Given the description of an element on the screen output the (x, y) to click on. 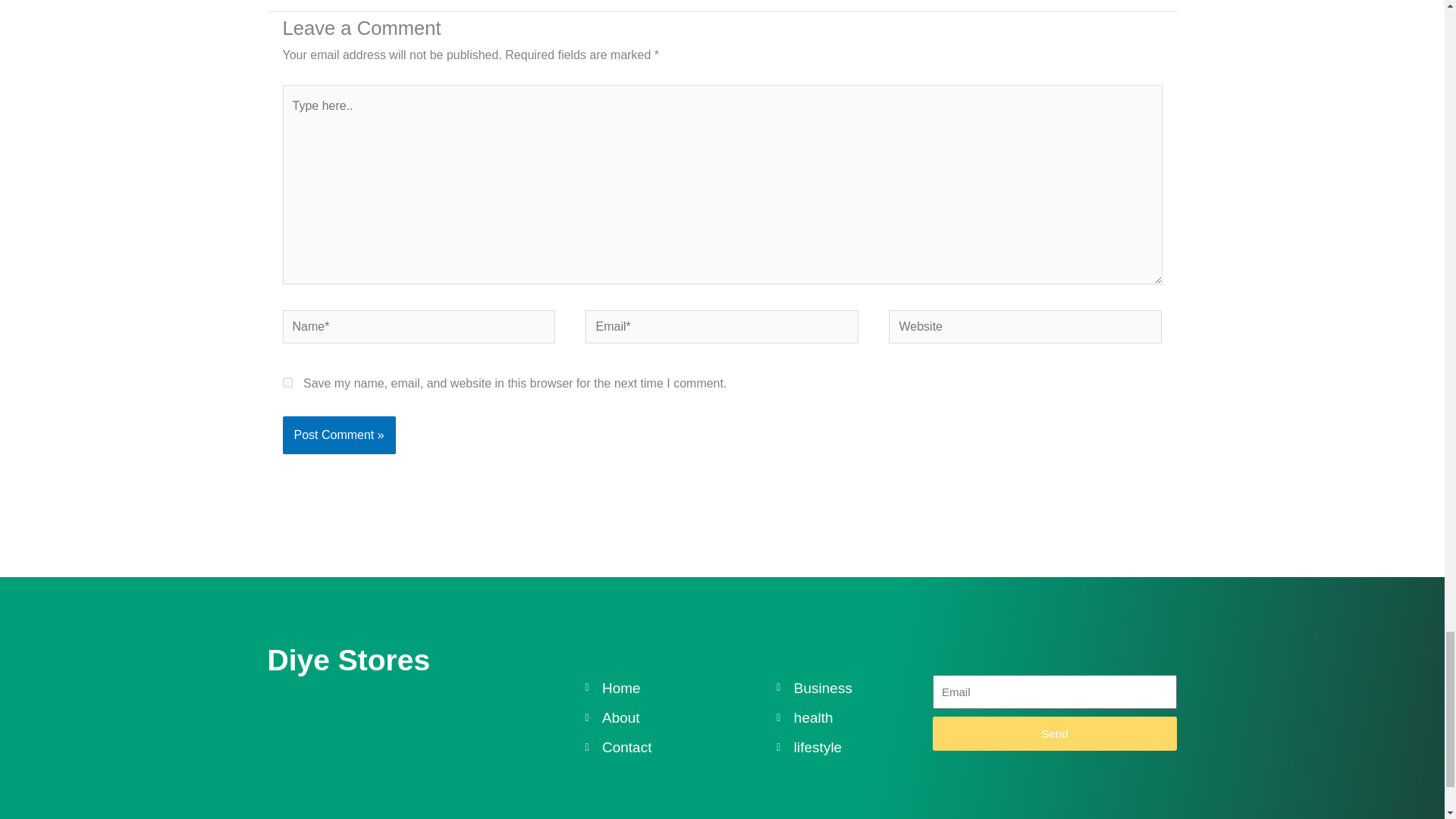
Diye Stores (347, 659)
Send (1054, 733)
Contact (680, 746)
yes (287, 382)
lifestyle (853, 746)
About (680, 717)
Business (853, 687)
health (853, 717)
Home (680, 687)
